Given the description of an element on the screen output the (x, y) to click on. 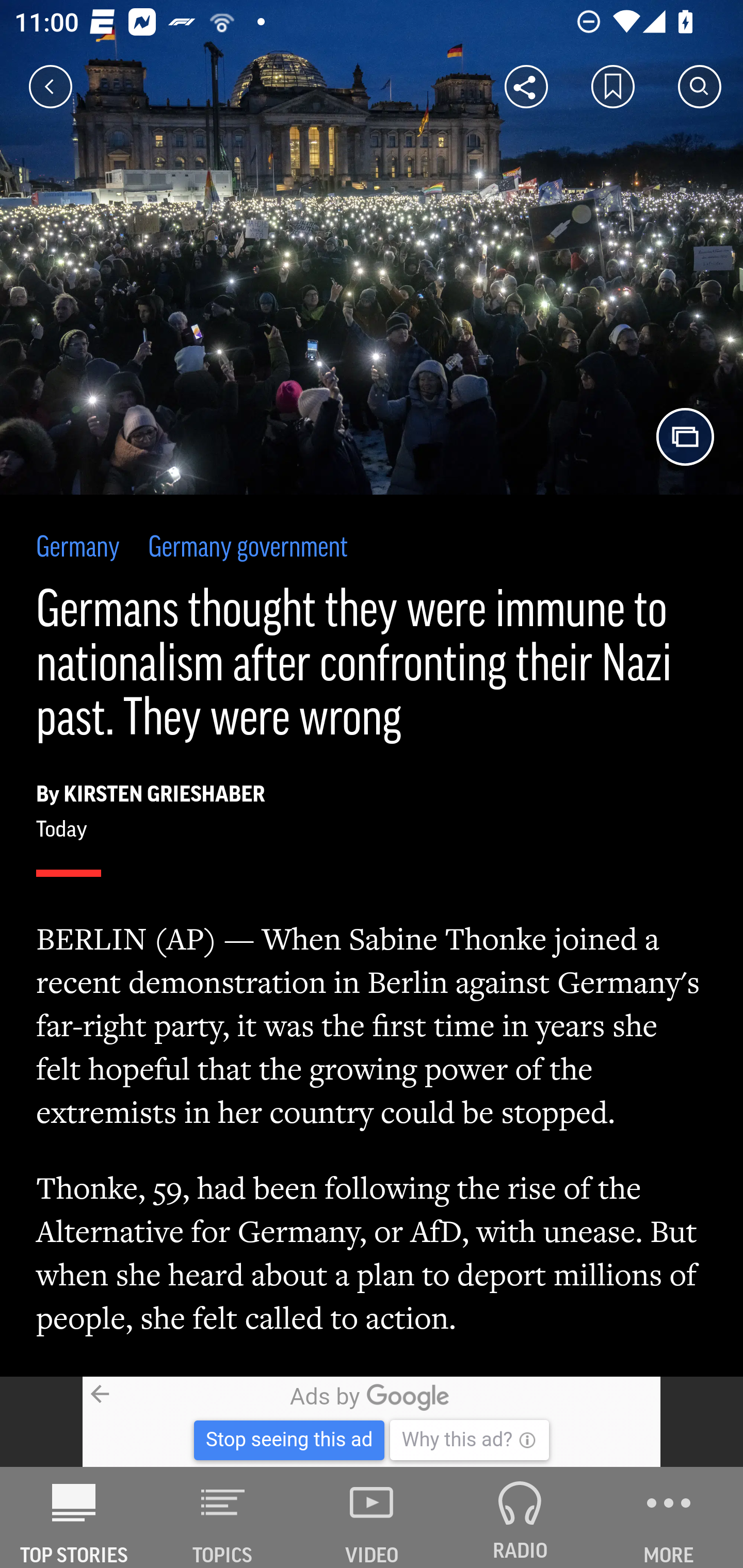
Germany (78, 548)
Germany government (247, 548)
tbox%3FDCSext (371, 1421)
AP News TOP STORIES (74, 1517)
TOPICS (222, 1517)
VIDEO (371, 1517)
RADIO (519, 1517)
MORE (668, 1517)
